Given the description of an element on the screen output the (x, y) to click on. 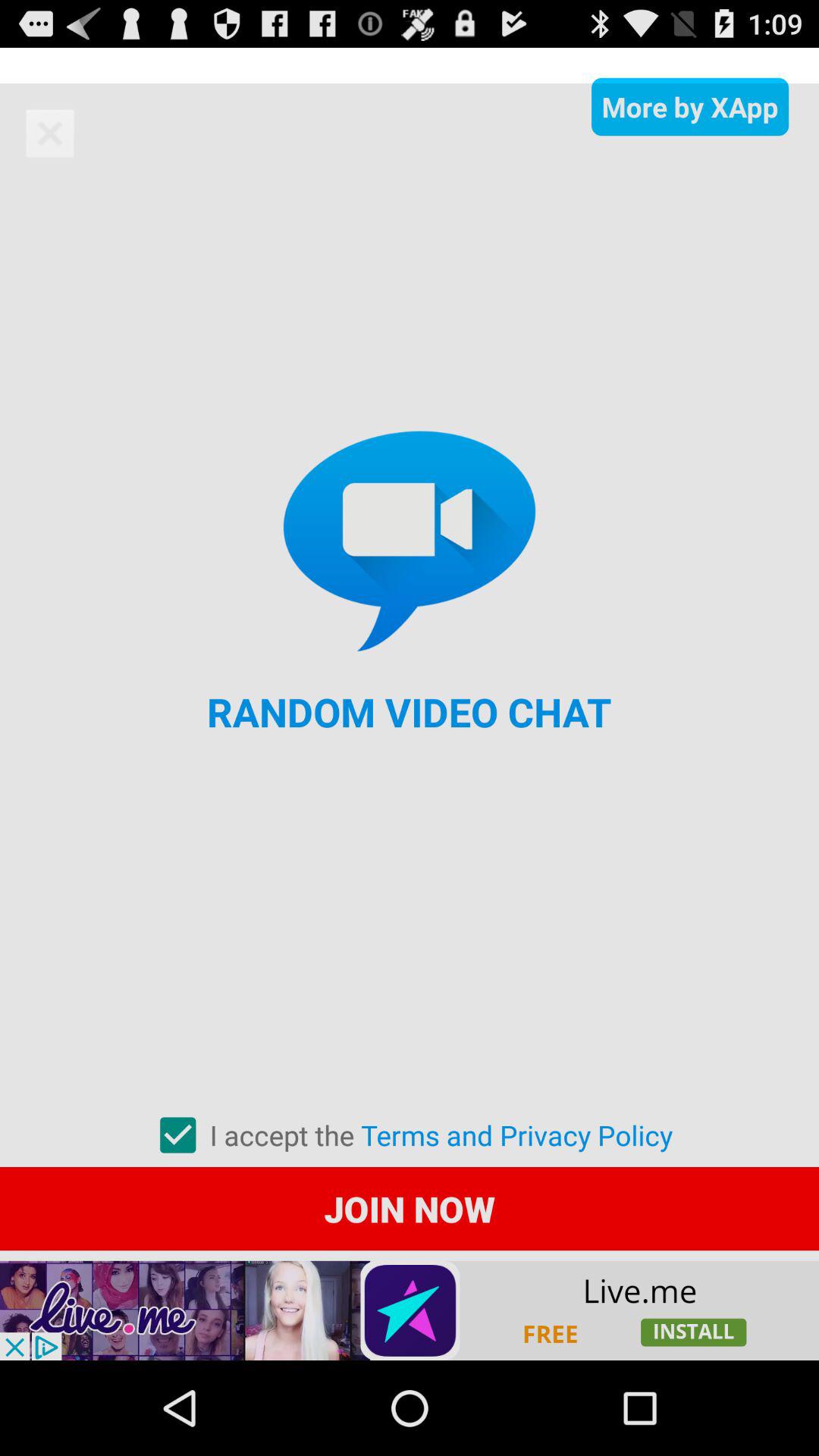
accept terms and conditions (177, 1135)
